Given the description of an element on the screen output the (x, y) to click on. 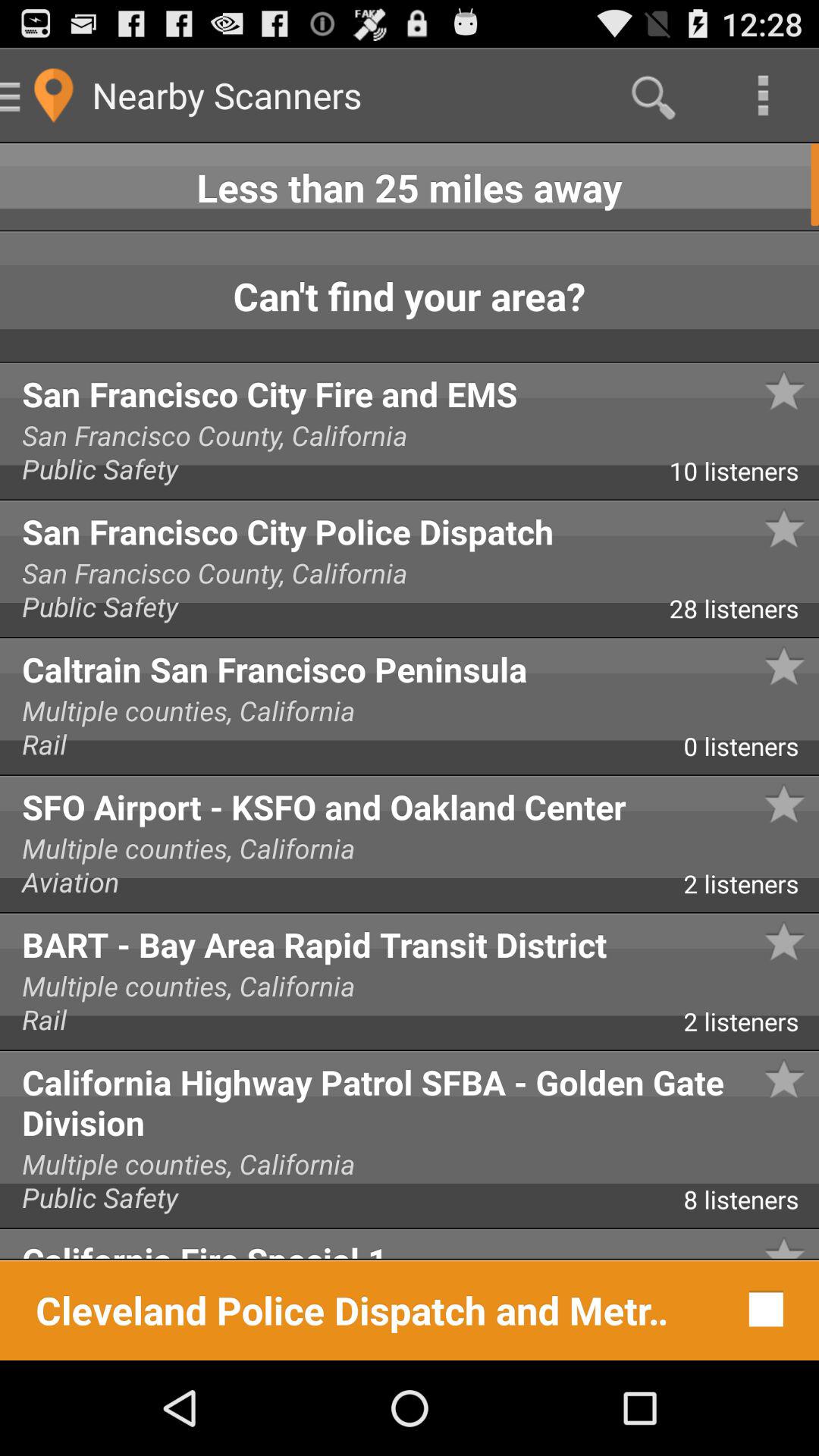
press item next to cleveland police dispatch (762, 1309)
